Given the description of an element on the screen output the (x, y) to click on. 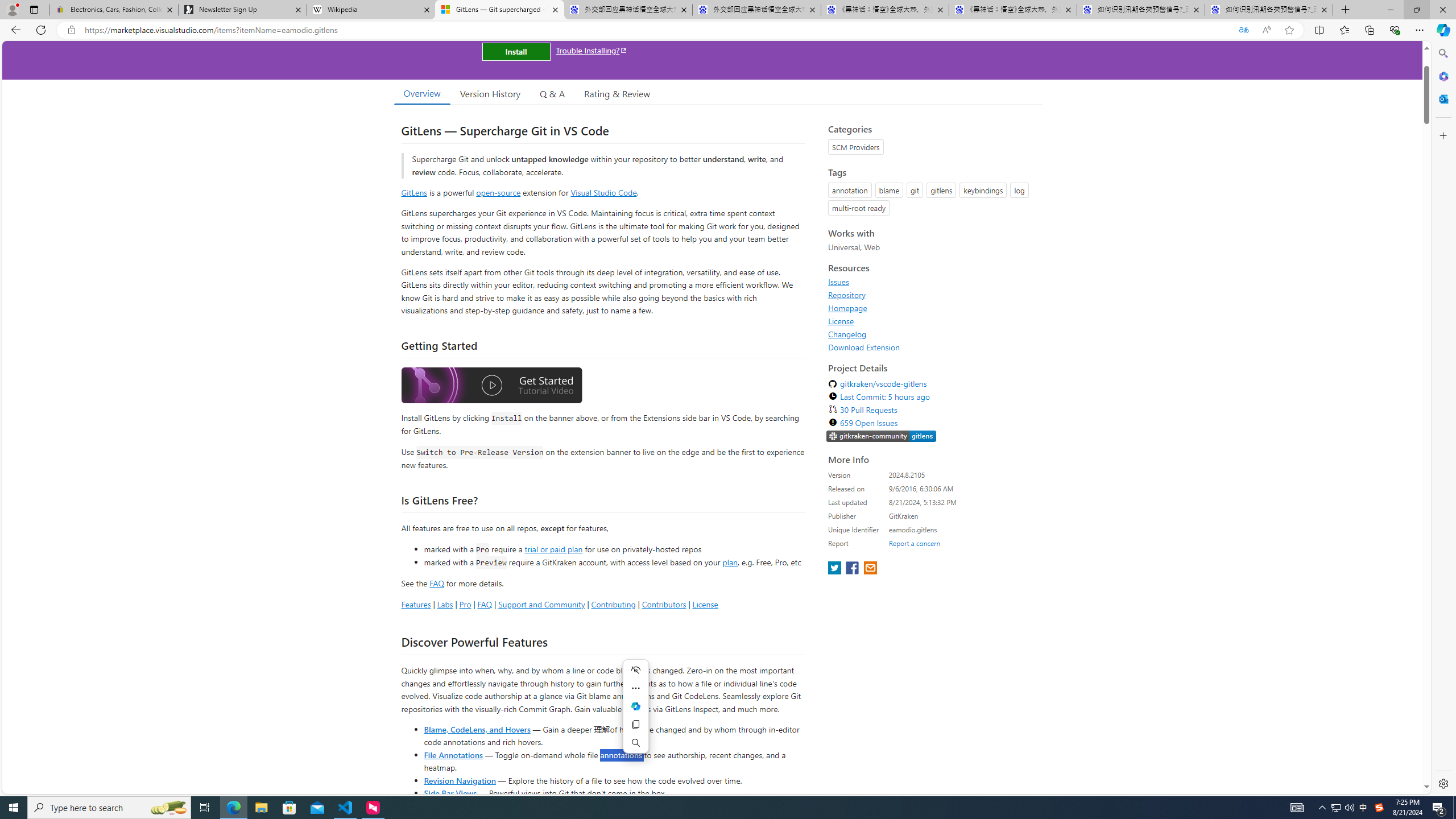
Changelog (931, 333)
https://slack.gitkraken.com// (881, 436)
Ask Copilot (635, 705)
Wikipedia (370, 9)
